Given the description of an element on the screen output the (x, y) to click on. 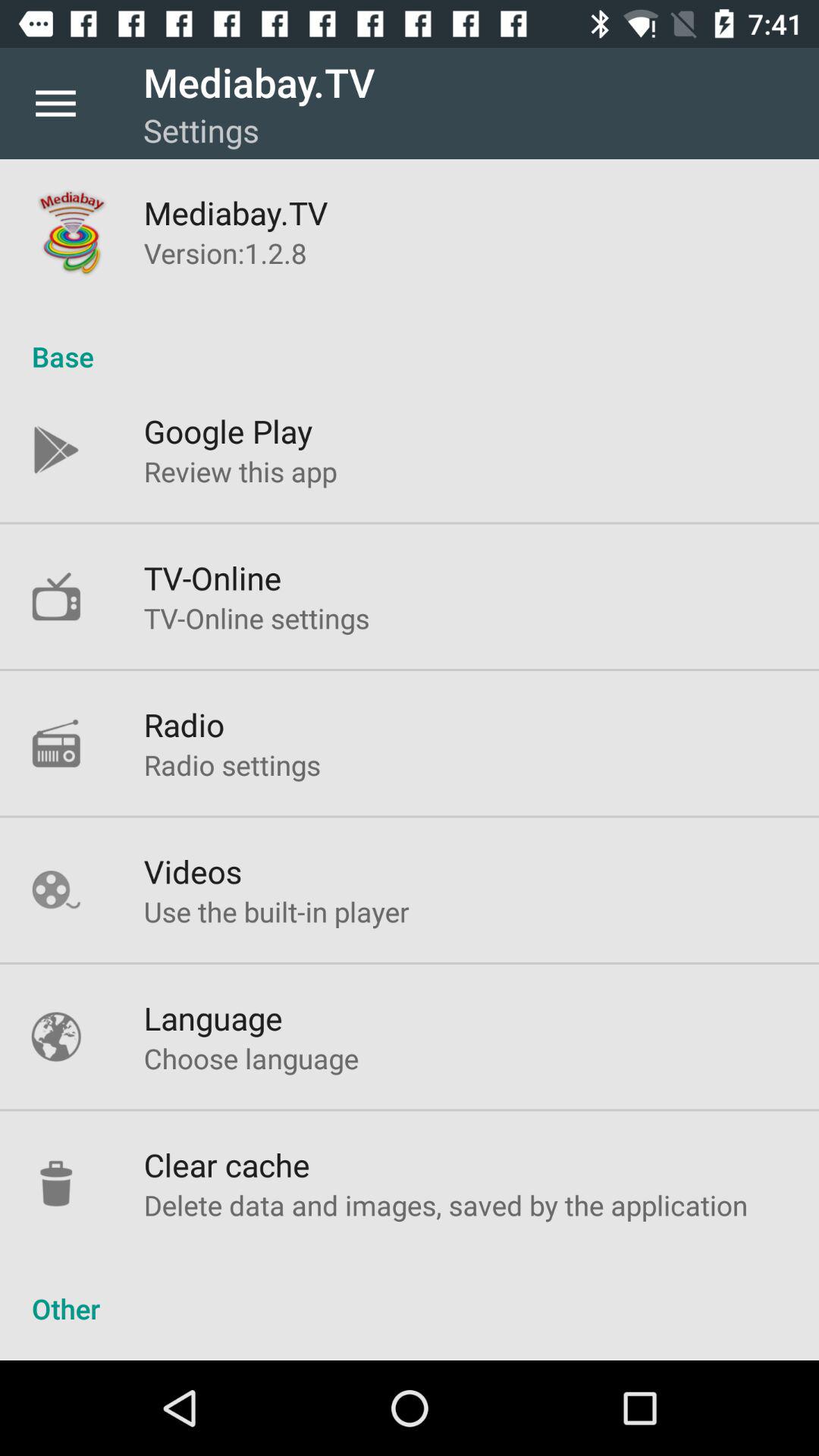
press the icon above base (225, 252)
